Given the description of an element on the screen output the (x, y) to click on. 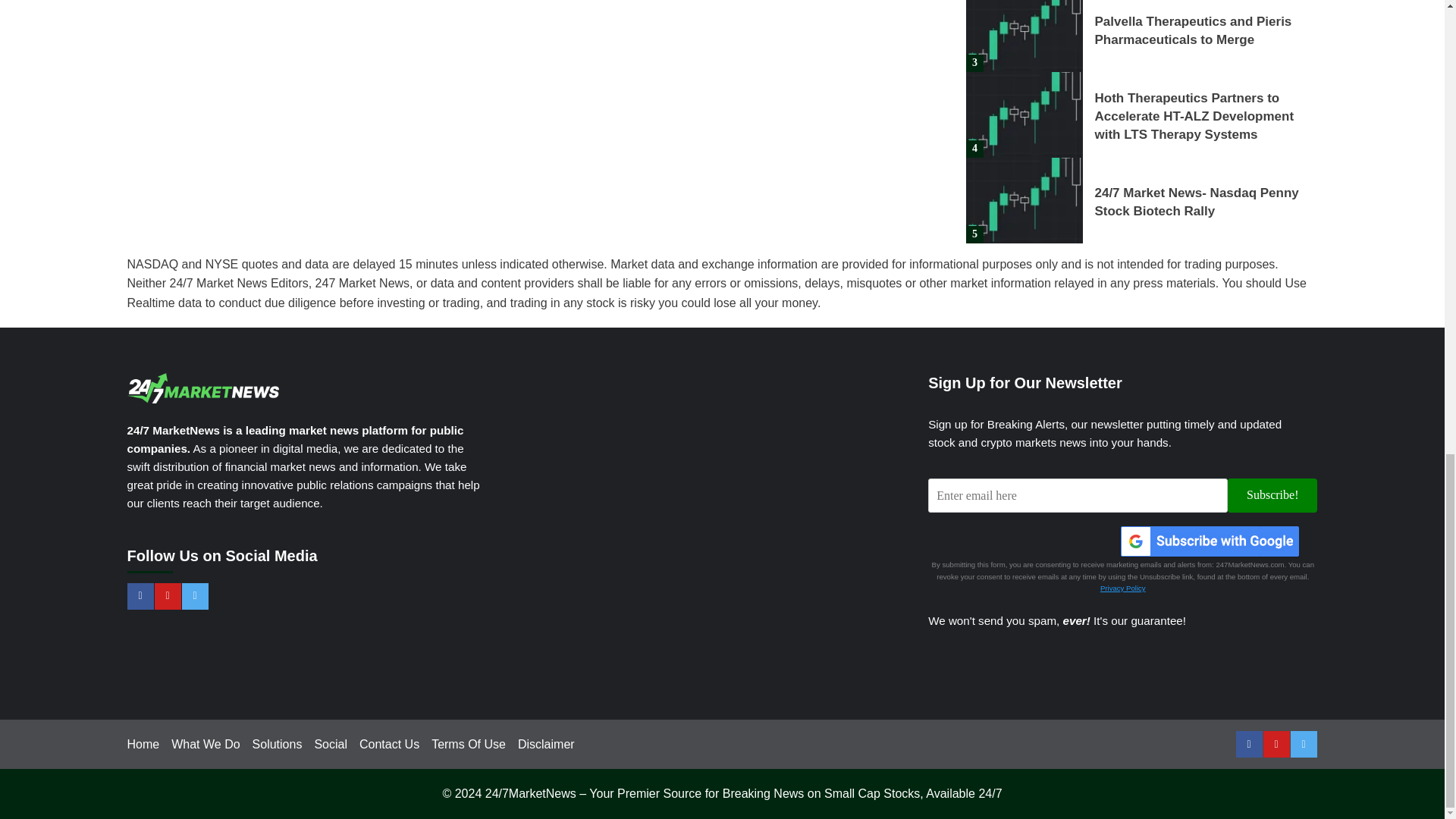
Subscribe! (1272, 495)
